Given the description of an element on the screen output the (x, y) to click on. 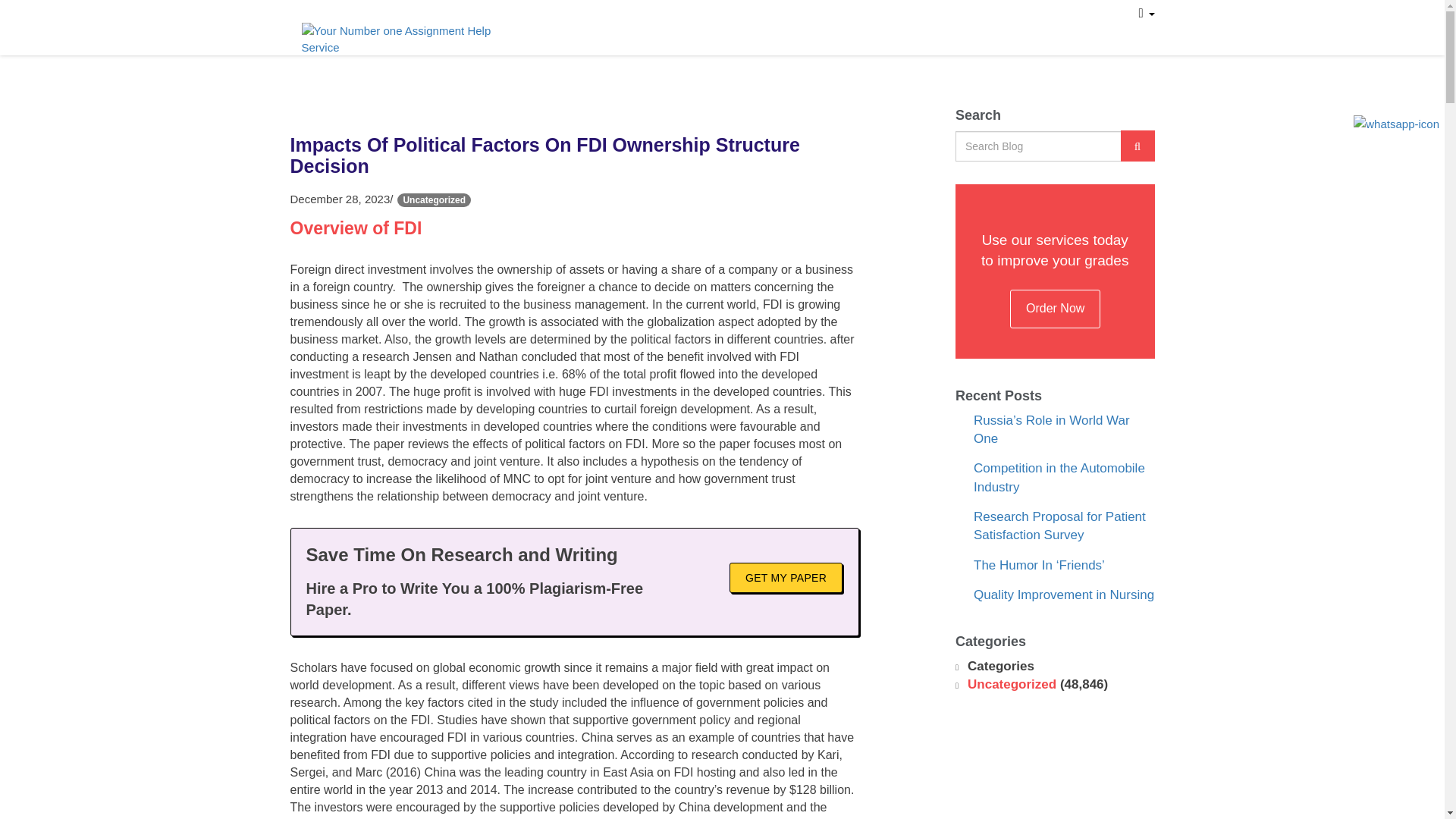
Uncategorized (433, 214)
Resin Modified Glass Ionomer Cements (1060, 589)
Advantages And Disadvantages Of Franchising Commerce Essay (1060, 646)
Features of Location Strategy Planning (1058, 540)
Order Now (1055, 323)
Study on Is Accounting Profession under Threat (1043, 444)
Order Now (941, 19)
Uncategorized (1012, 754)
GET MY PAPER (786, 593)
Physicochemical Study of Palm Ester for Cosmetic Application (1063, 492)
